Given the description of an element on the screen output the (x, y) to click on. 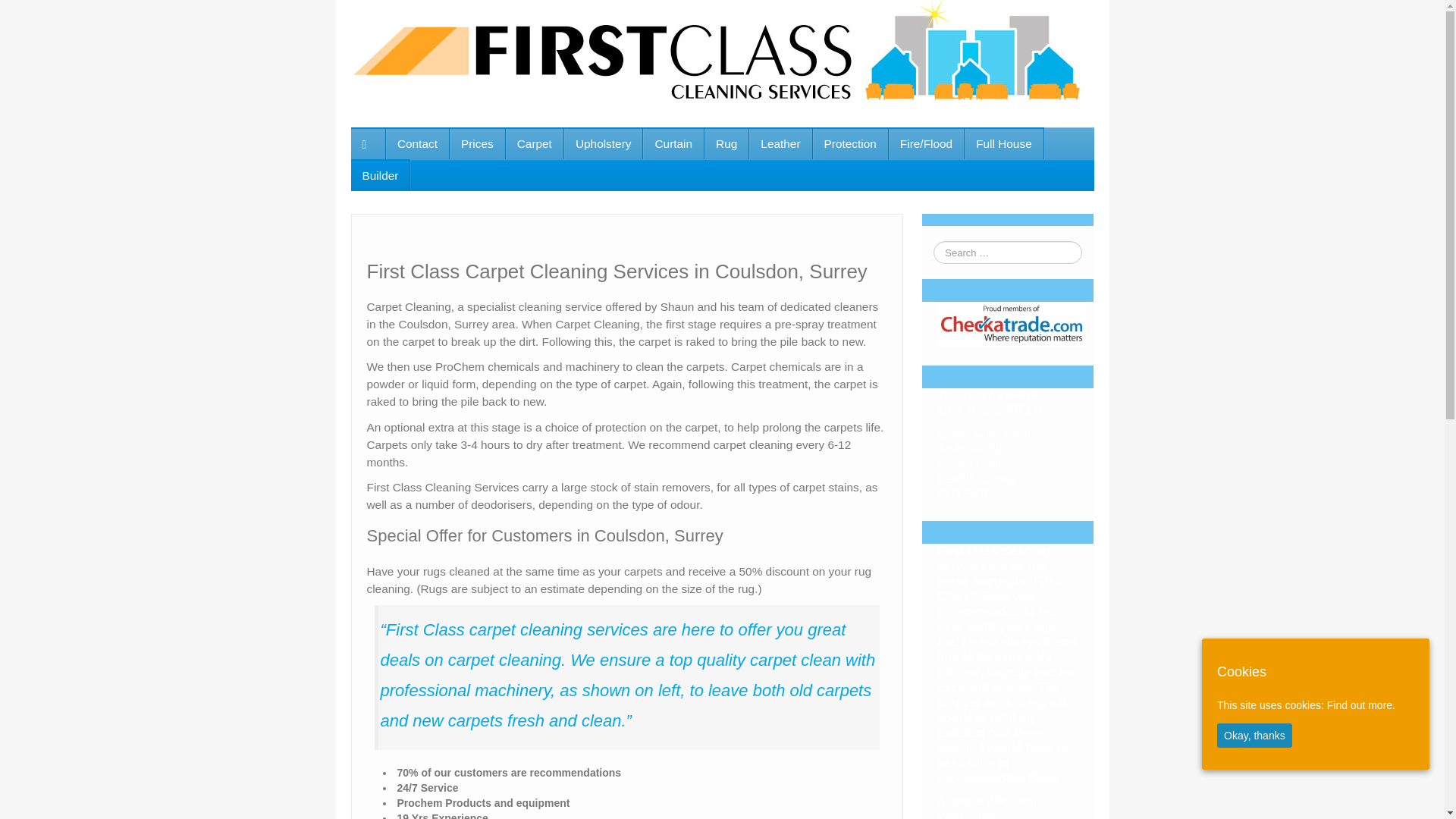
Rug (726, 142)
Full House (1003, 142)
Contact (416, 142)
Builder (379, 174)
Upholstery (603, 142)
Carpet (534, 142)
Click Here (1002, 432)
Prices (477, 142)
Leather (779, 142)
Protection (850, 142)
